Given the description of an element on the screen output the (x, y) to click on. 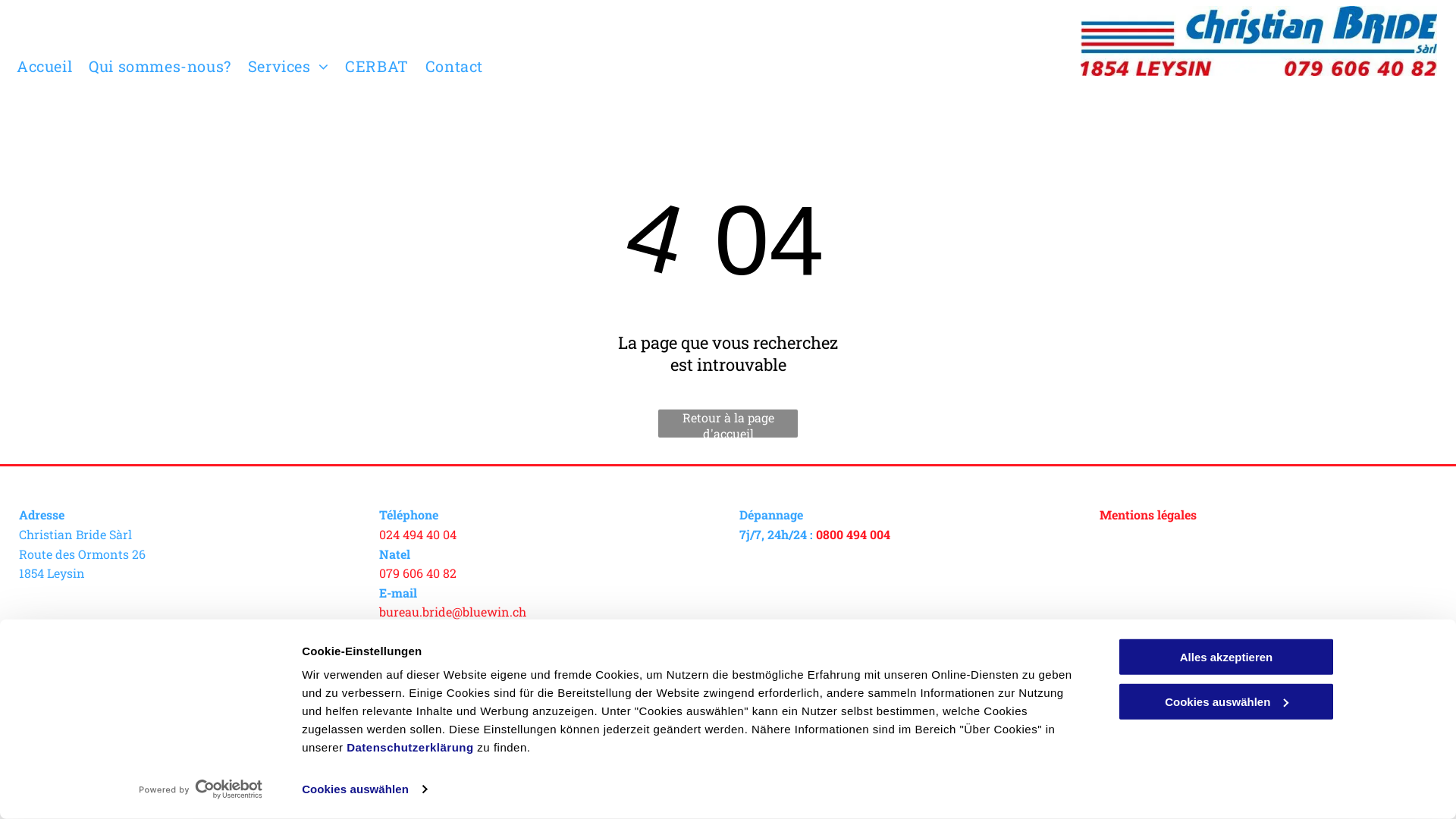
CERBAT Element type: text (383, 65)
Services Element type: text (294, 65)
Contact Element type: text (460, 65)
079 606 40 82 Element type: text (417, 572)
024 494 40 04 Element type: text (417, 534)
bureau.bride@bluewin.ch Element type: text (452, 621)
Alles akzeptieren Element type: text (1225, 656)
Qui sommes-nous? Element type: text (166, 65)
Accueil Element type: text (51, 65)
0800 494 004 Element type: text (852, 534)
